Given the description of an element on the screen output the (x, y) to click on. 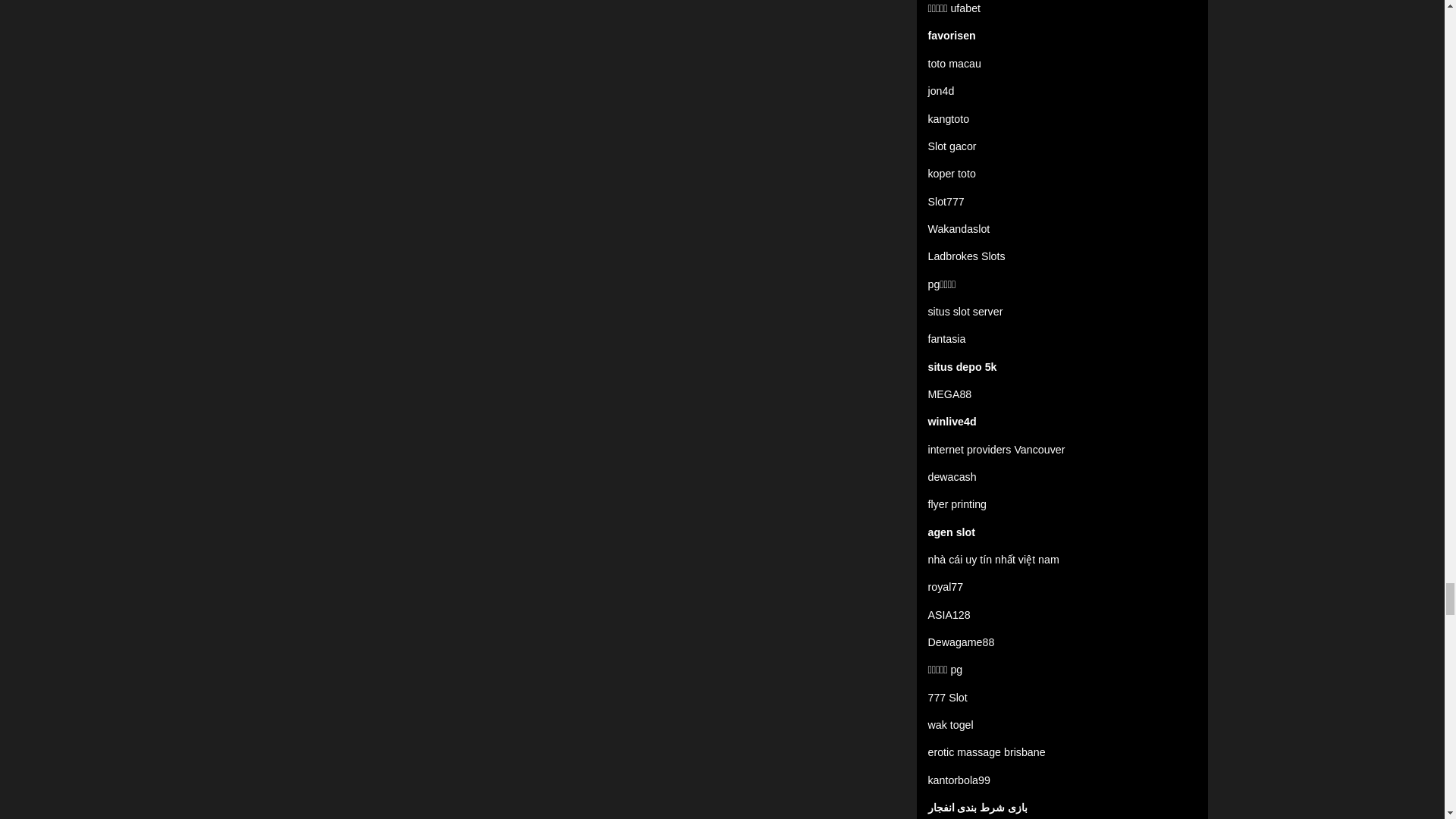
favorisen (951, 35)
